Given the description of an element on the screen output the (x, y) to click on. 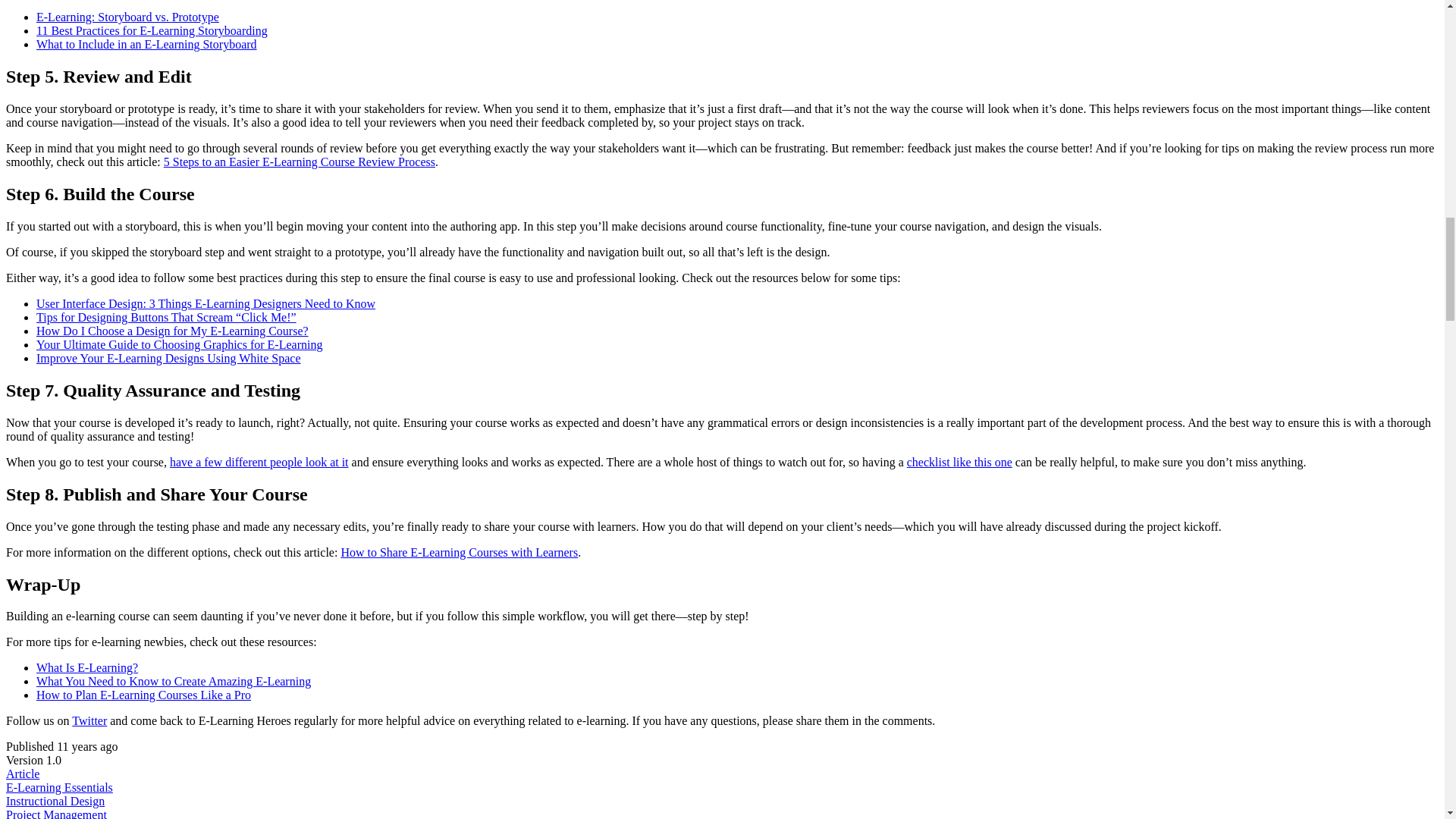
Your Ultimate Guide to Choosing Graphics for E-Learning (178, 344)
How Do I Choose a Design for My E-Learning Course? (172, 330)
October 9, 2013 at 7:09 PM (86, 746)
E-Learning: Storyboard vs. Prototype (127, 16)
How to Share E-Learning Courses with Learners (459, 552)
have a few different people look at it (259, 461)
checklist like this one (959, 461)
5 Steps to an Easier E-Learning Course Review Process (299, 161)
11 Best Practices for E-Learning Storyboarding (151, 30)
